Given the description of an element on the screen output the (x, y) to click on. 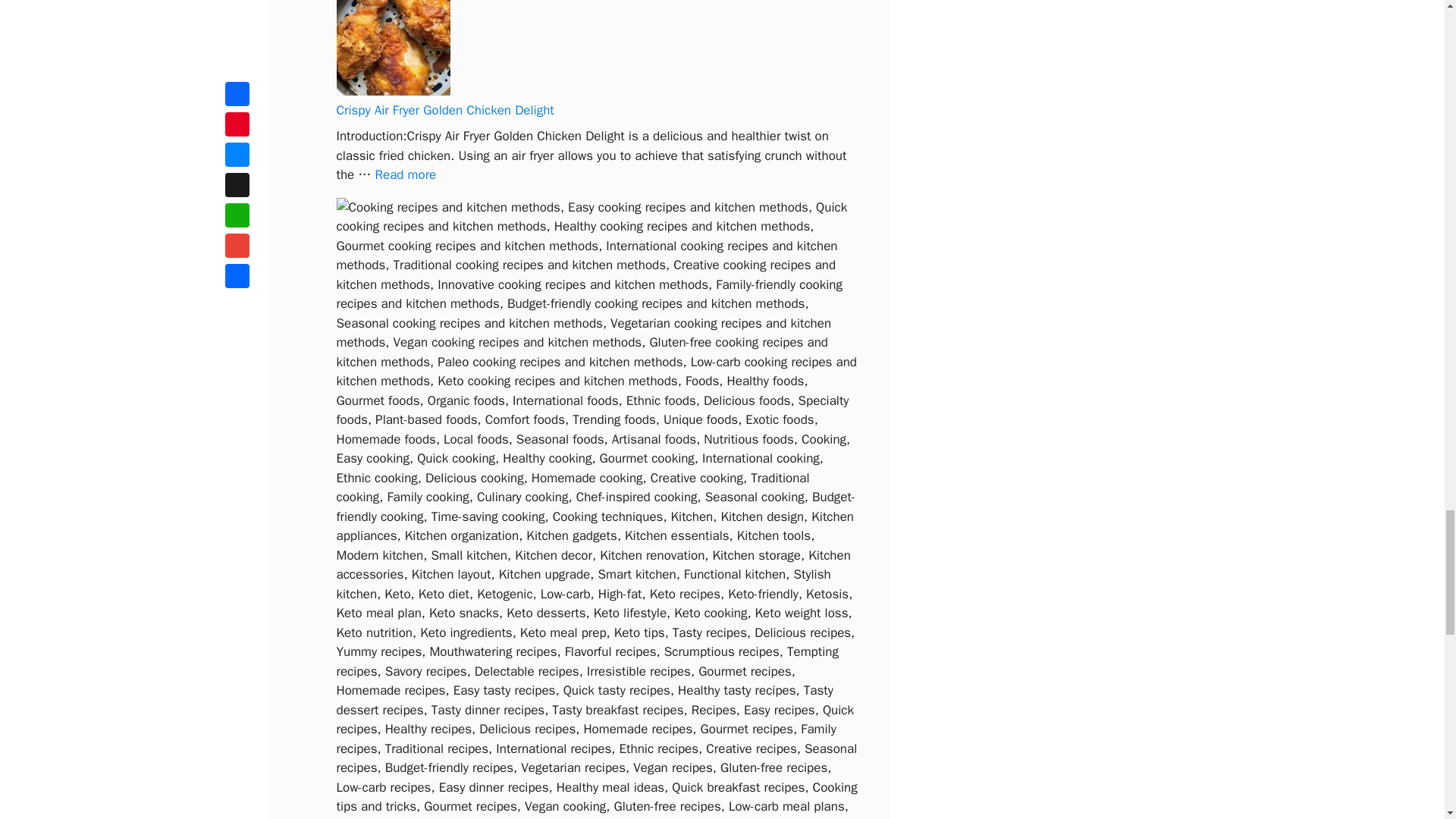
Read more (404, 174)
Crispy Air Fryer Golden Chicken Delight (445, 109)
Crispy Air Fryer Golden Chicken Delight (404, 174)
